Given the description of an element on the screen output the (x, y) to click on. 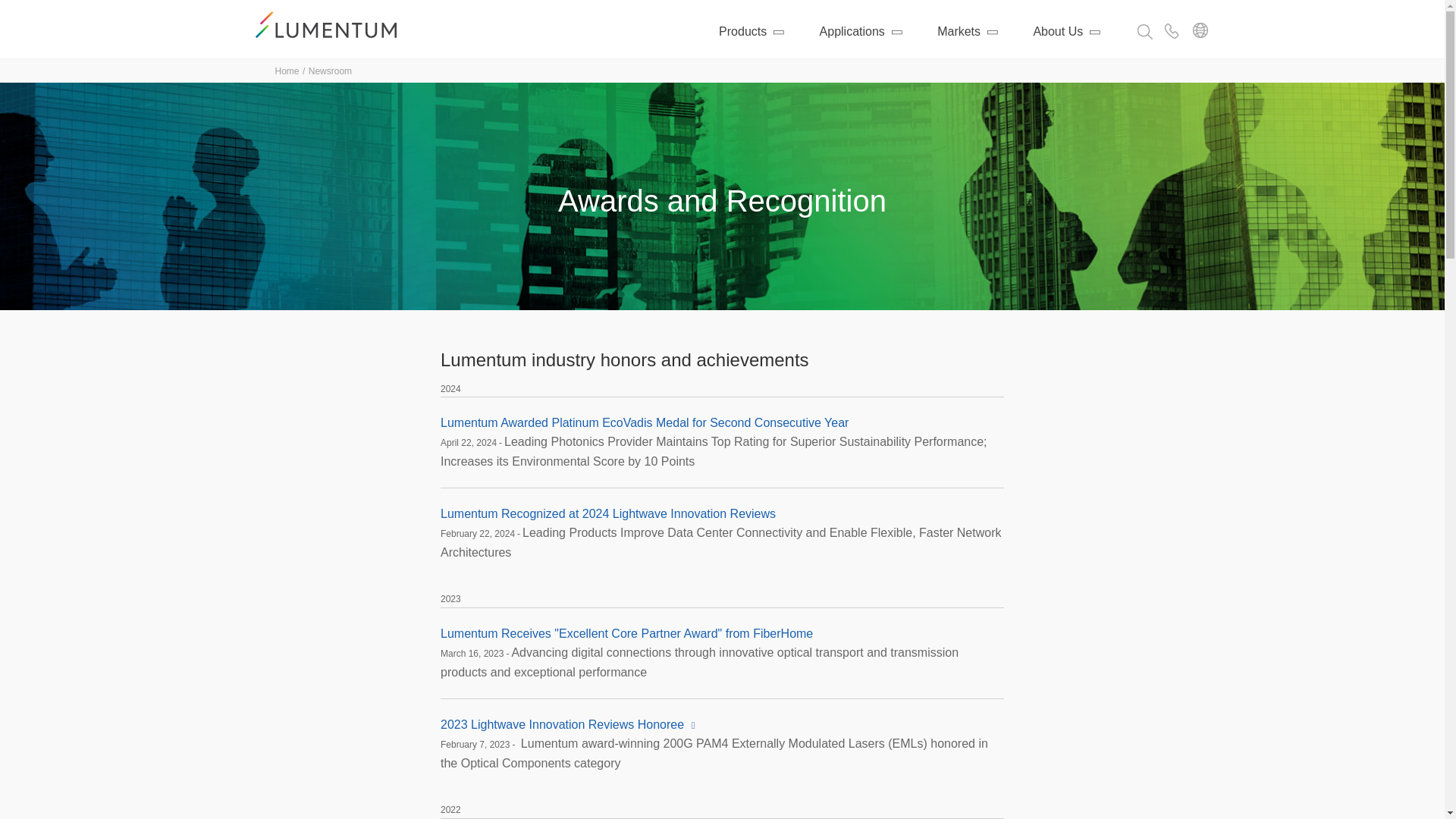
CONTACT US (1170, 30)
Lumentum Operations LLC (330, 24)
